Given the description of an element on the screen output the (x, y) to click on. 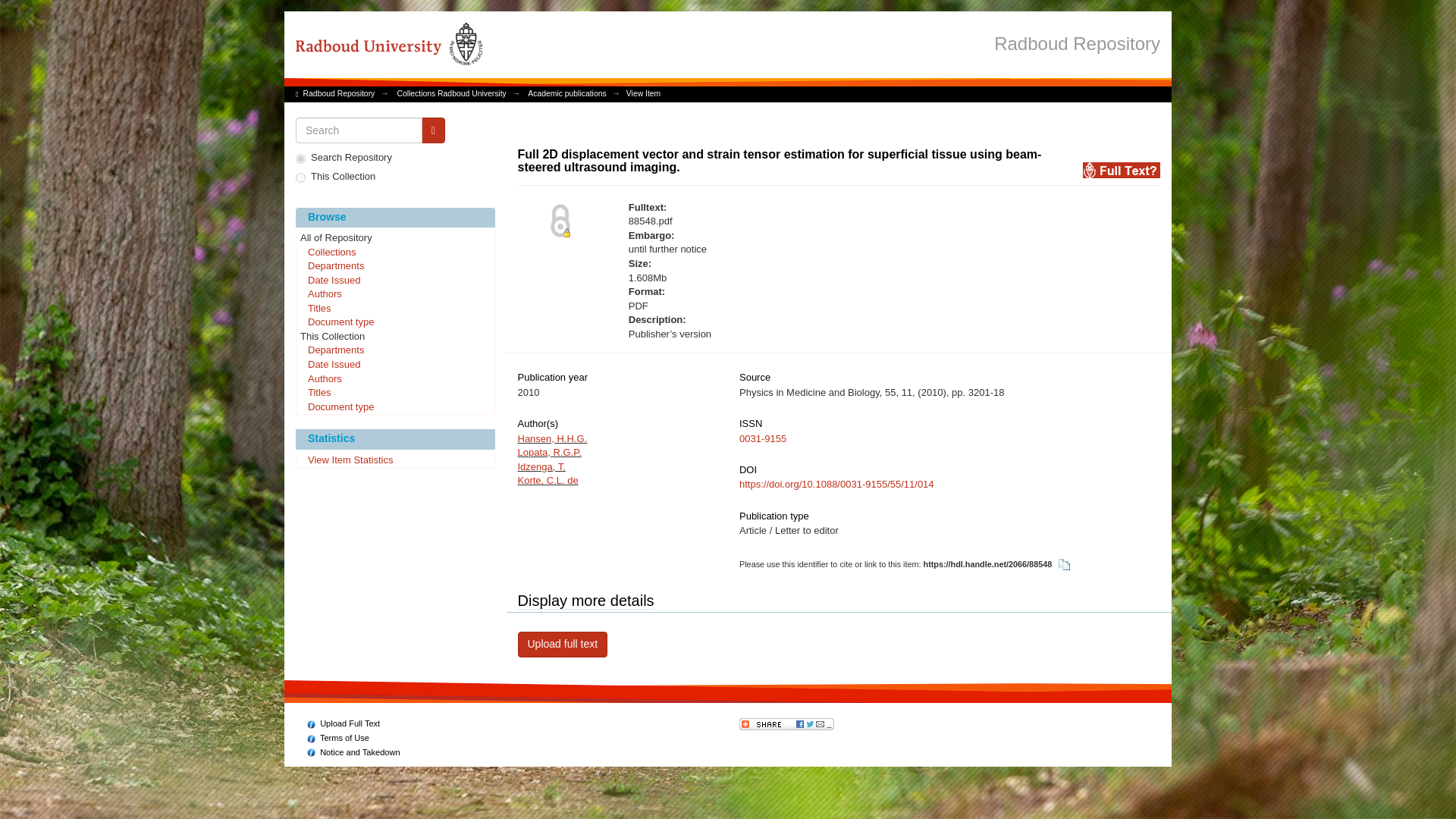
Departments (395, 266)
Information about the Notice and Takedown Procedure (353, 751)
0031-9155 (762, 438)
Titles (395, 309)
Authors (395, 379)
Departments (395, 350)
88548.pdf (783, 221)
Document type (395, 407)
Radboud Repository (338, 93)
Statistics (395, 438)
